Given the description of an element on the screen output the (x, y) to click on. 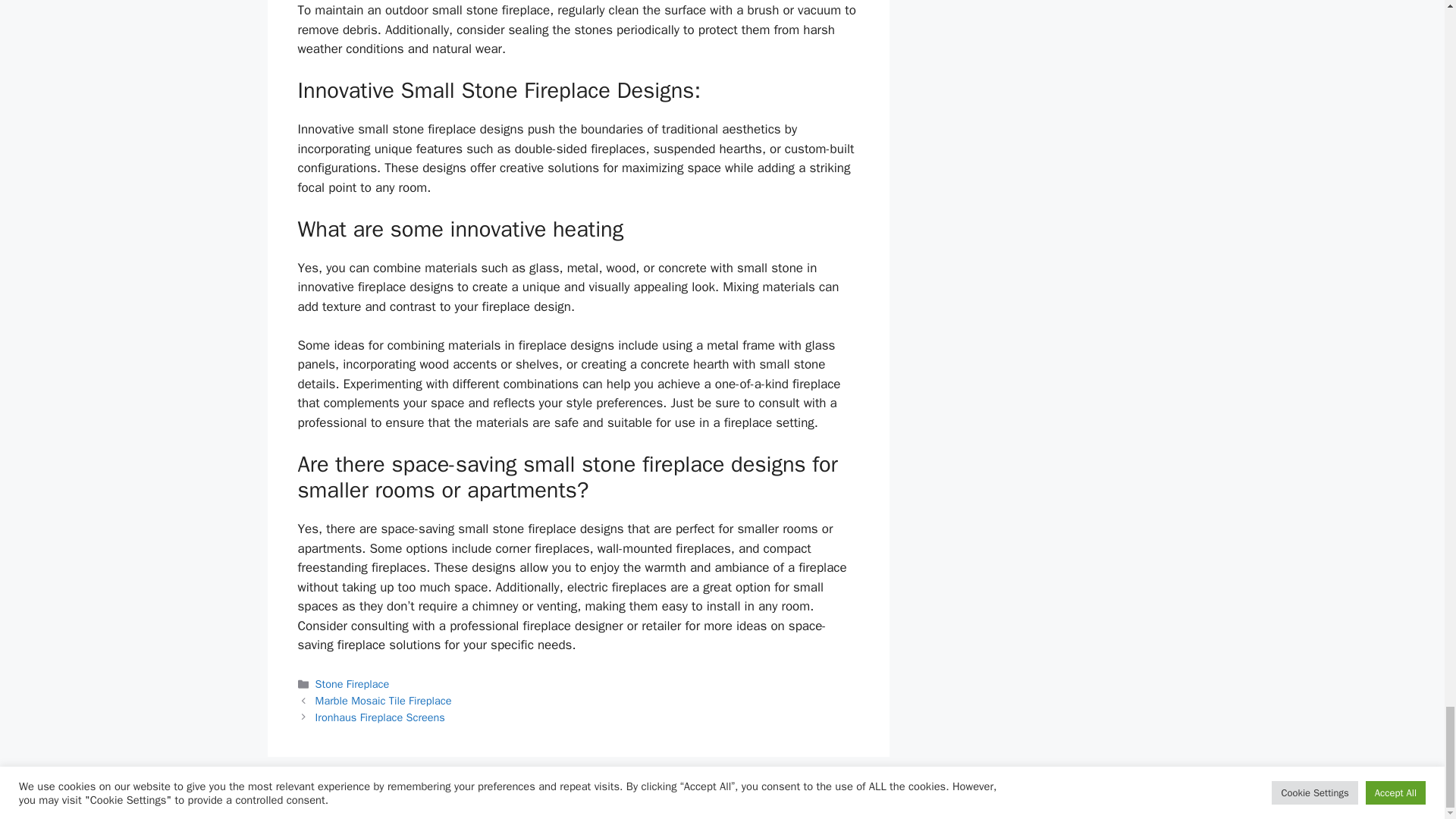
Ironhaus Fireplace Screens (380, 716)
Marble Mosaic Tile Fireplace (383, 700)
Stone Fireplace (352, 684)
